Given the description of an element on the screen output the (x, y) to click on. 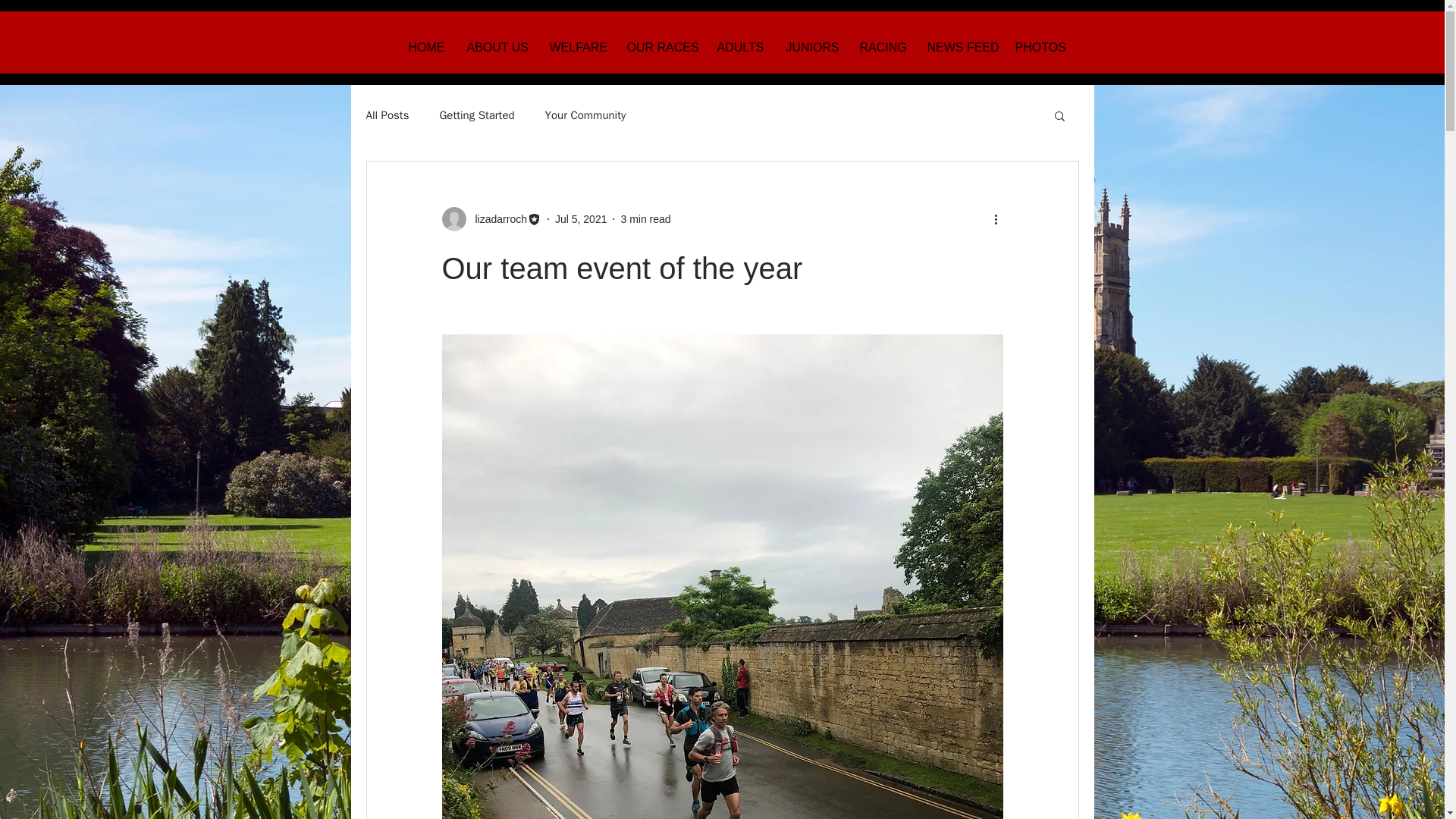
Jul 5, 2021 (580, 218)
Getting Started (476, 114)
ABOUT US (495, 47)
RACING (881, 47)
NEWS FEED (959, 47)
lizadarroch (495, 218)
OUR RACES (660, 47)
Your Community (585, 114)
3 min read (644, 218)
WELFARE (576, 47)
PHOTOS (1039, 47)
All Posts (387, 114)
JUNIORS (811, 47)
HOME (426, 47)
ADULTS (739, 47)
